Given the description of an element on the screen output the (x, y) to click on. 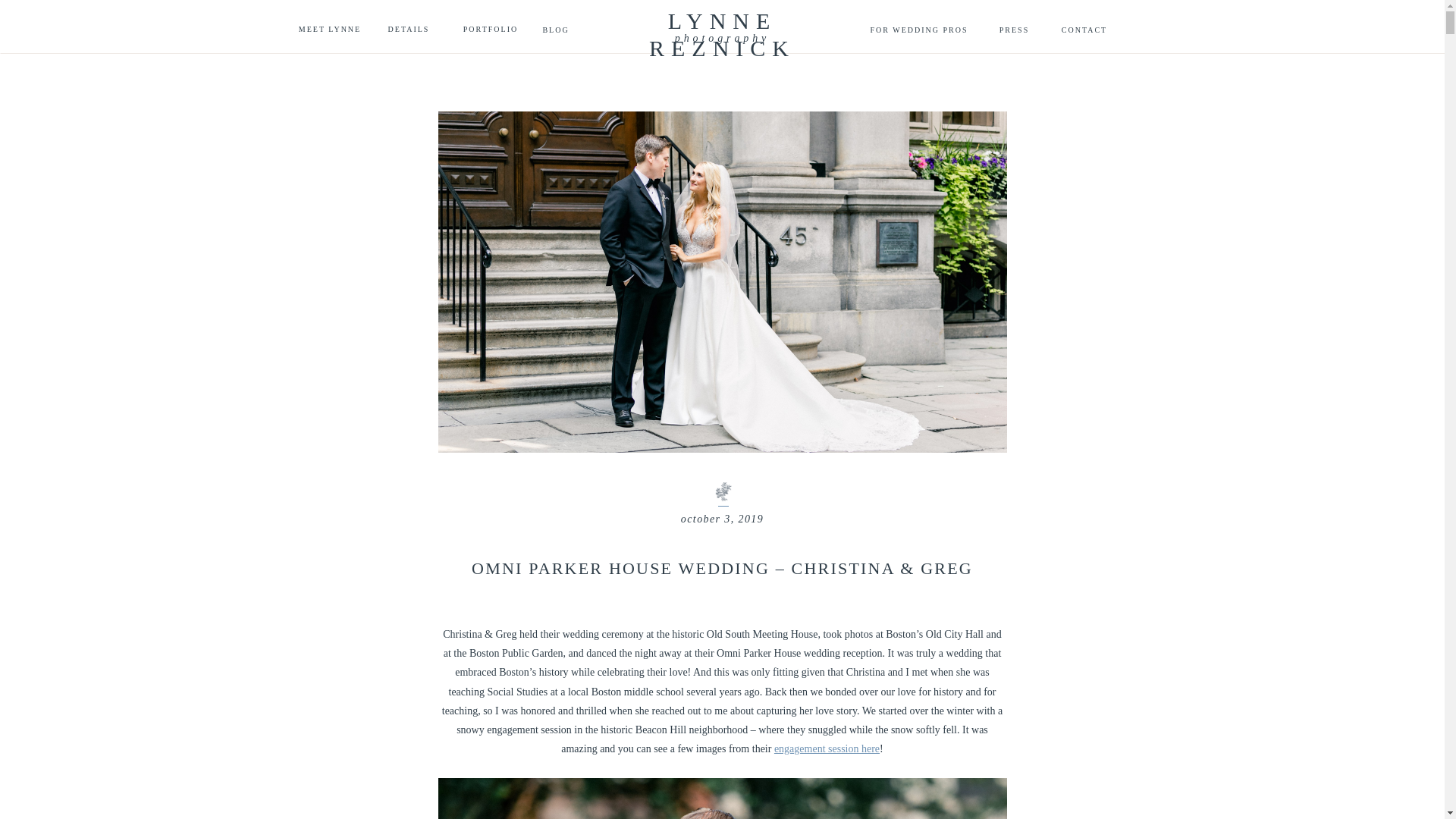
engagement session here (826, 748)
PRESS (1014, 33)
CONTACT (1084, 29)
LYNNE REZNICK (722, 21)
MEET LYNNE (329, 28)
FOR WEDDING PROS (919, 33)
DETAILS (408, 28)
BLOG (555, 29)
PORTFOLIO (489, 28)
